Given the description of an element on the screen output the (x, y) to click on. 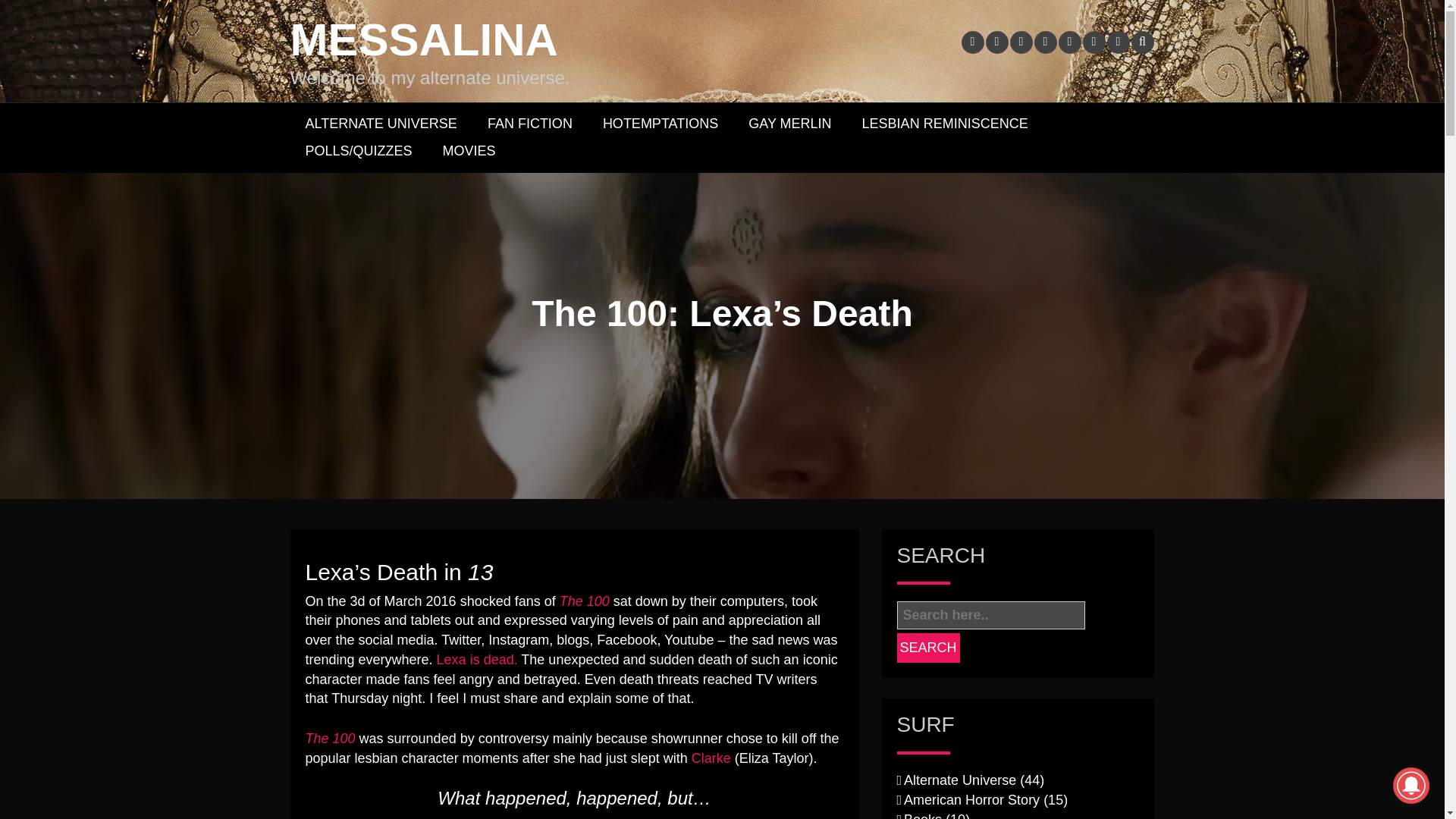
Twitter (997, 42)
The 100 (584, 601)
MOVIES (469, 151)
Youtube (1045, 42)
LESBIAN REMINISCENCE (945, 124)
FAN FICTION (529, 124)
Search (927, 647)
Instagram (1094, 42)
Email (1117, 42)
Tumbler (1069, 42)
Pinterest (1021, 42)
The 100 (329, 738)
The 100 (584, 601)
ALTERNATE UNIVERSE (380, 124)
Clarke (710, 758)
